Given the description of an element on the screen output the (x, y) to click on. 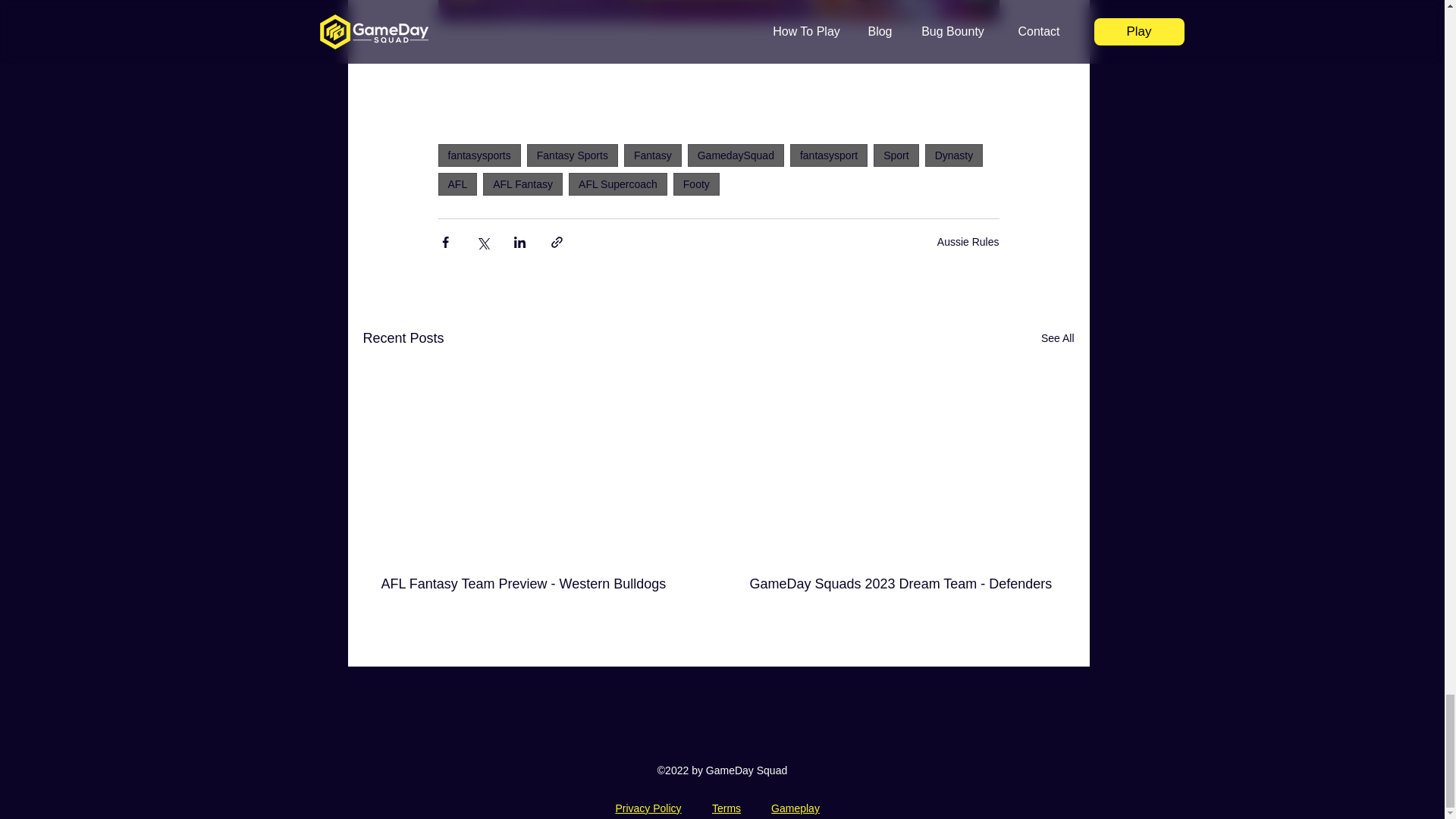
GamedaySquad (735, 155)
AFL Fantasy (522, 183)
Fantasy Sports (572, 155)
See All (1057, 338)
fantasysports (479, 155)
Fantasy (652, 155)
AFL (457, 183)
Footy (695, 183)
Aussie Rules (967, 241)
AFL Supercoach (617, 183)
